Given the description of an element on the screen output the (x, y) to click on. 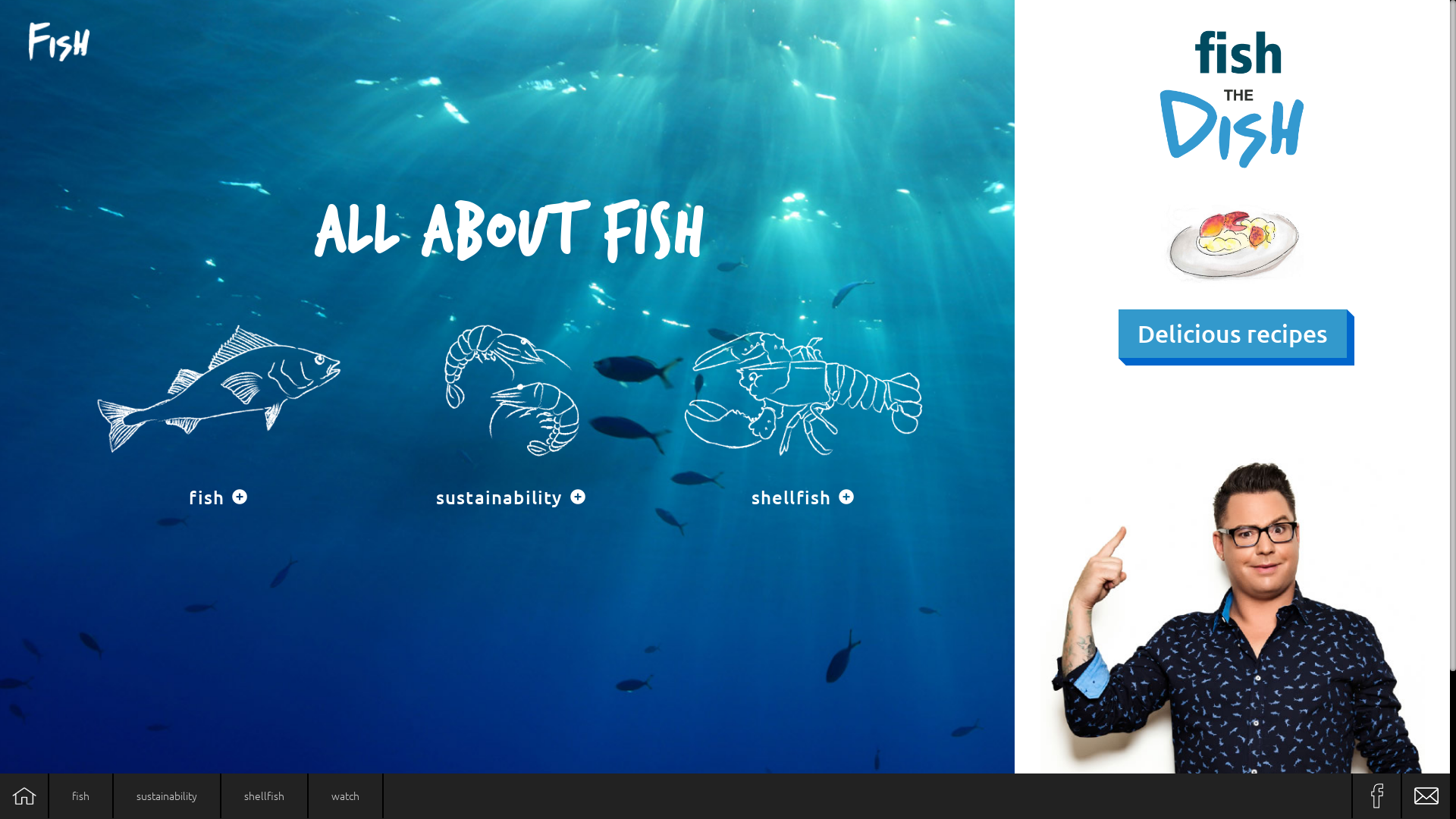
sustainability Element type: text (166, 795)
shellfish Element type: text (264, 795)
fish Element type: text (80, 795)
watch Element type: text (345, 795)
sustainability Element type: text (510, 402)
shellfish Element type: text (802, 402)
Delicious recipes Element type: text (1232, 333)
fish Element type: text (217, 402)
  Element type: text (23, 795)
  Element type: text (1425, 795)
